Given the description of an element on the screen output the (x, y) to click on. 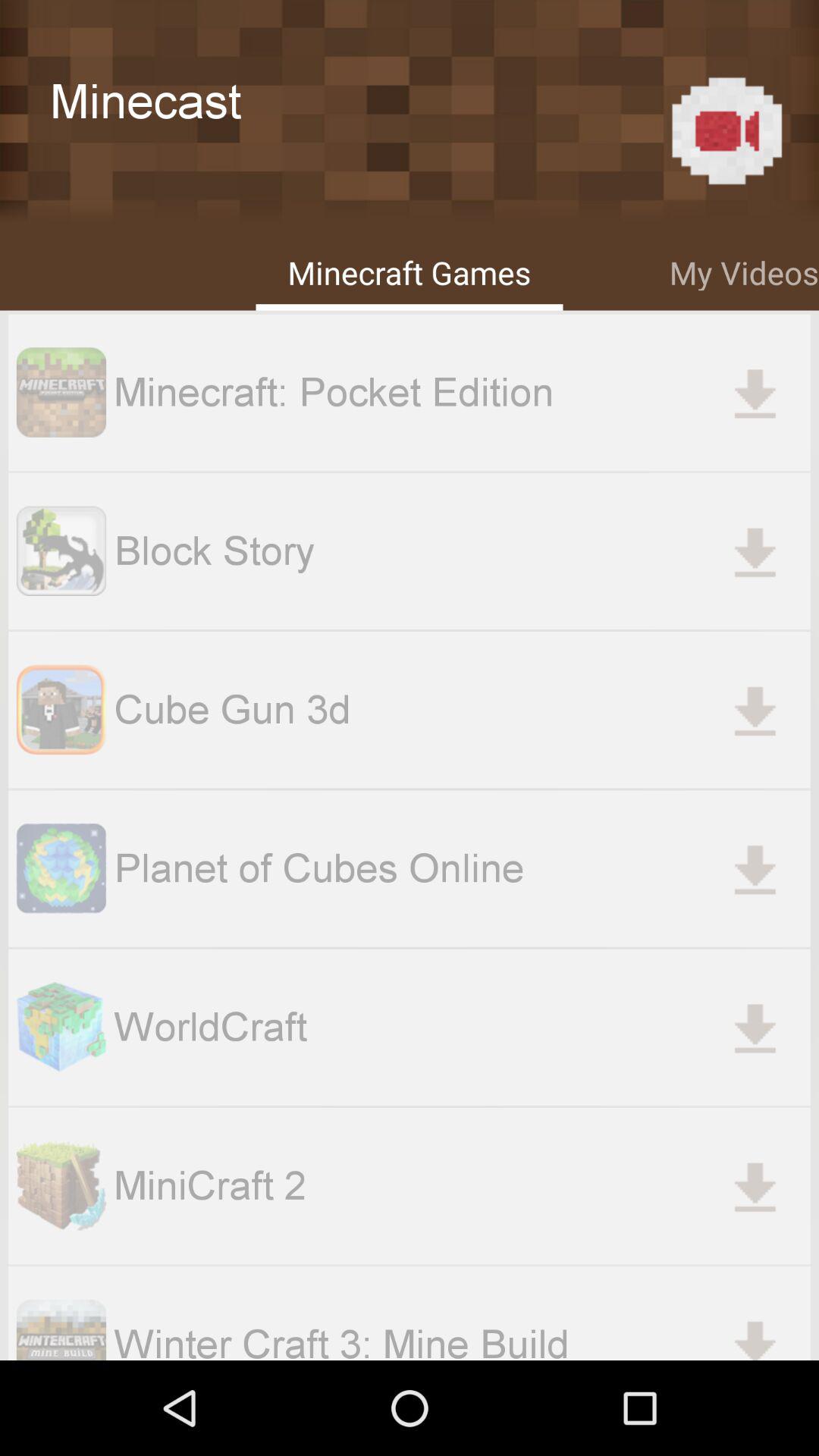
launch minicraft 2 item (462, 1185)
